Given the description of an element on the screen output the (x, y) to click on. 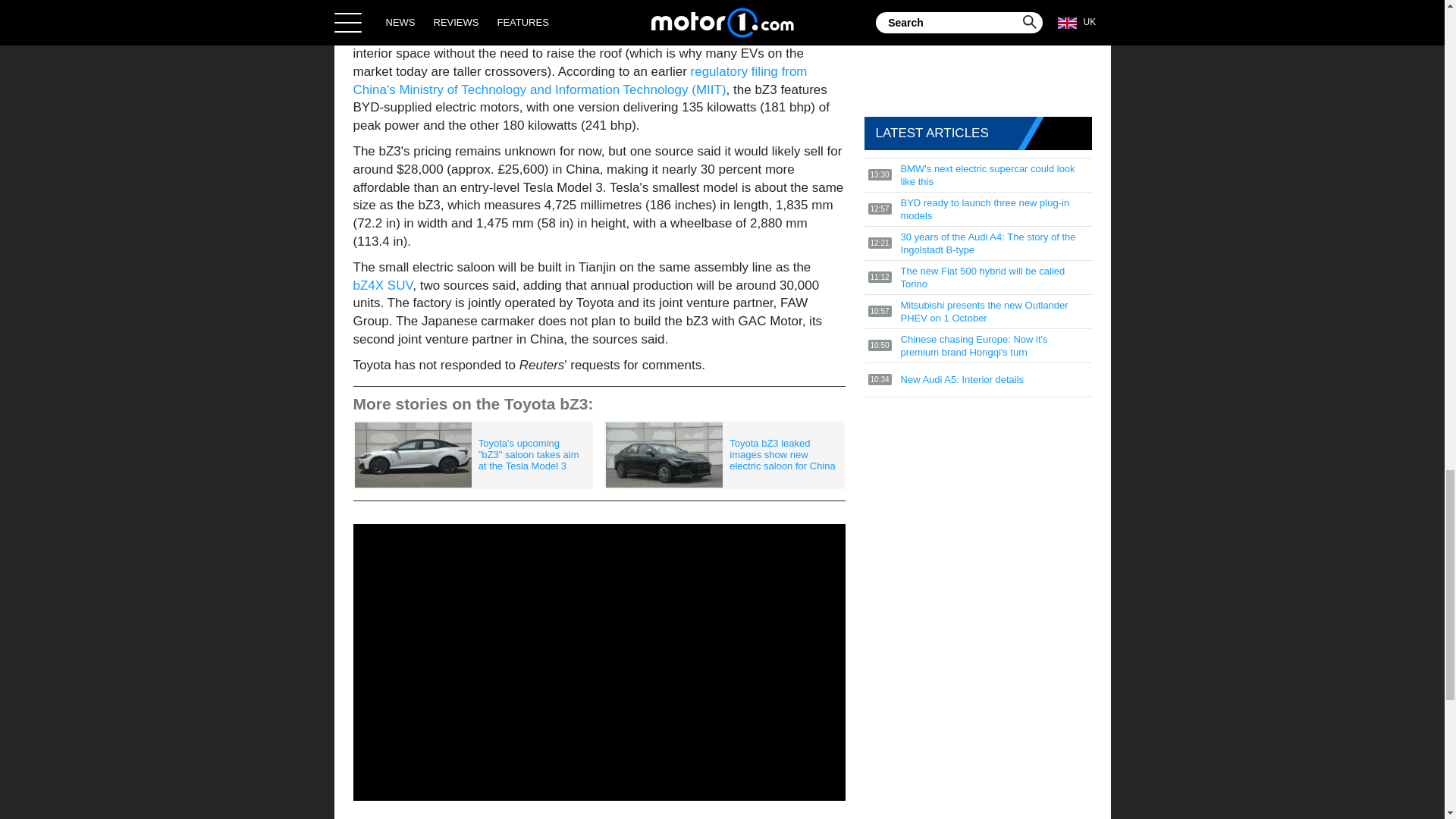
bZ4X SUV (383, 285)
Toyota bZ3 leaked images show new electric saloon for China (724, 454)
